Given the description of an element on the screen output the (x, y) to click on. 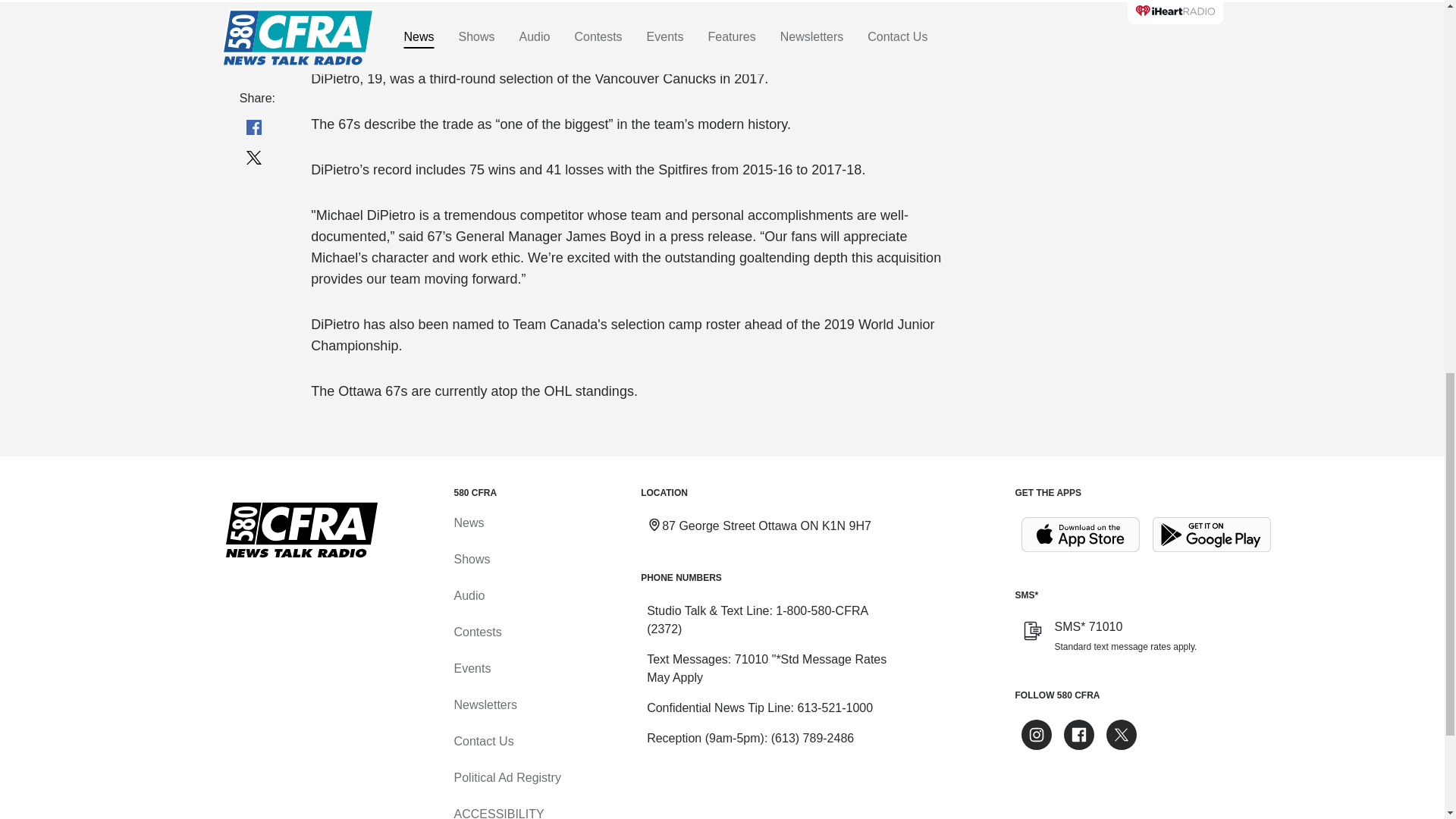
Political Ad Registry (506, 777)
Audio (468, 594)
Events (471, 667)
Newsletters (484, 704)
Contests (476, 631)
Contact Us (482, 740)
Accessibility (497, 813)
613-521-1000 (834, 707)
Download on the App Store (1080, 534)
ACCESSIBILITY (497, 813)
